Given the description of an element on the screen output the (x, y) to click on. 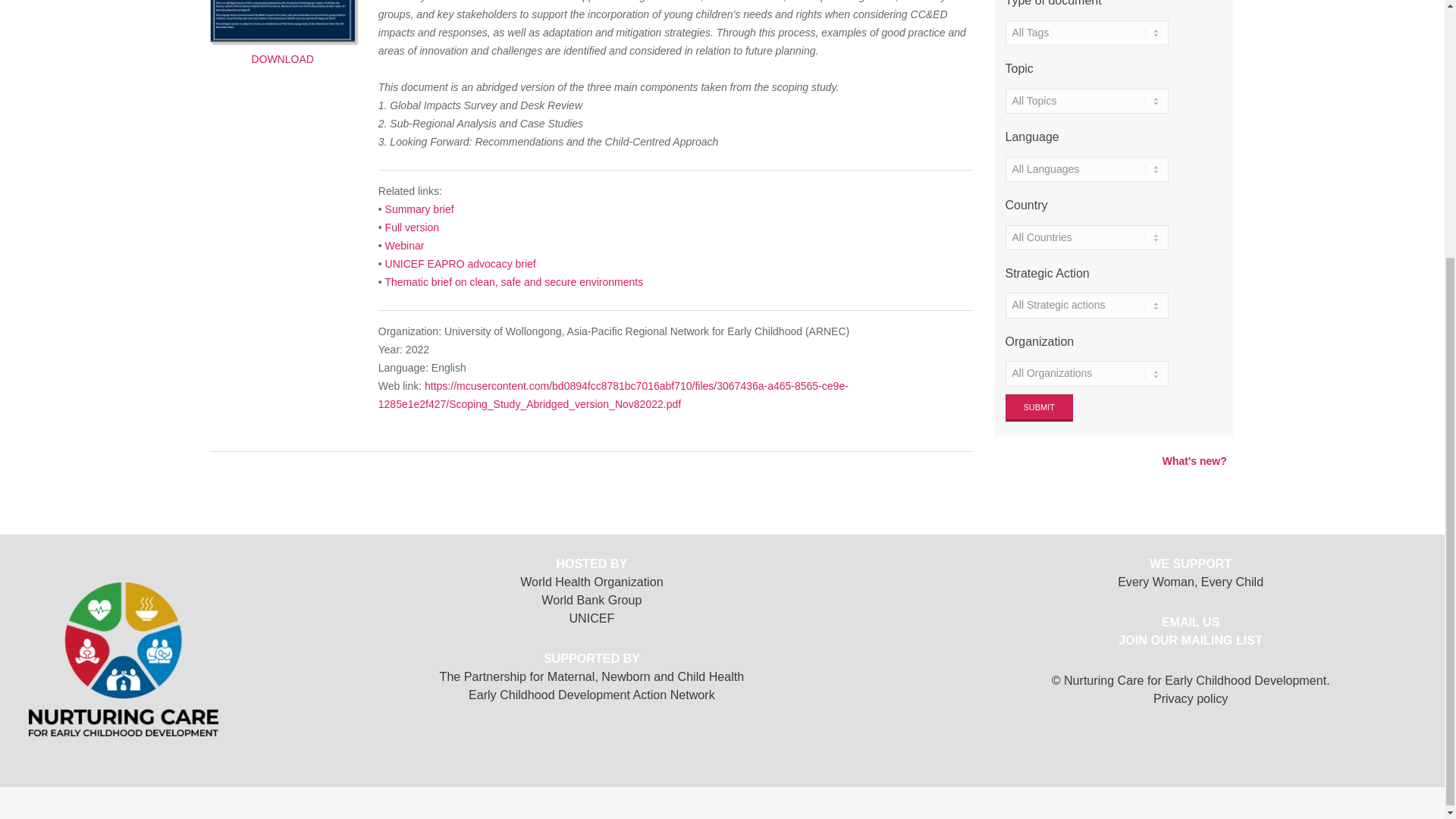
Thematic brief on clean, safe and secure environments (513, 282)
Summary brief (419, 209)
DOWNLOAD (282, 32)
UNICEF EAPRO advocacy brief (460, 263)
Full version (412, 227)
Submit (1040, 407)
Webinar (405, 245)
